Given the description of an element on the screen output the (x, y) to click on. 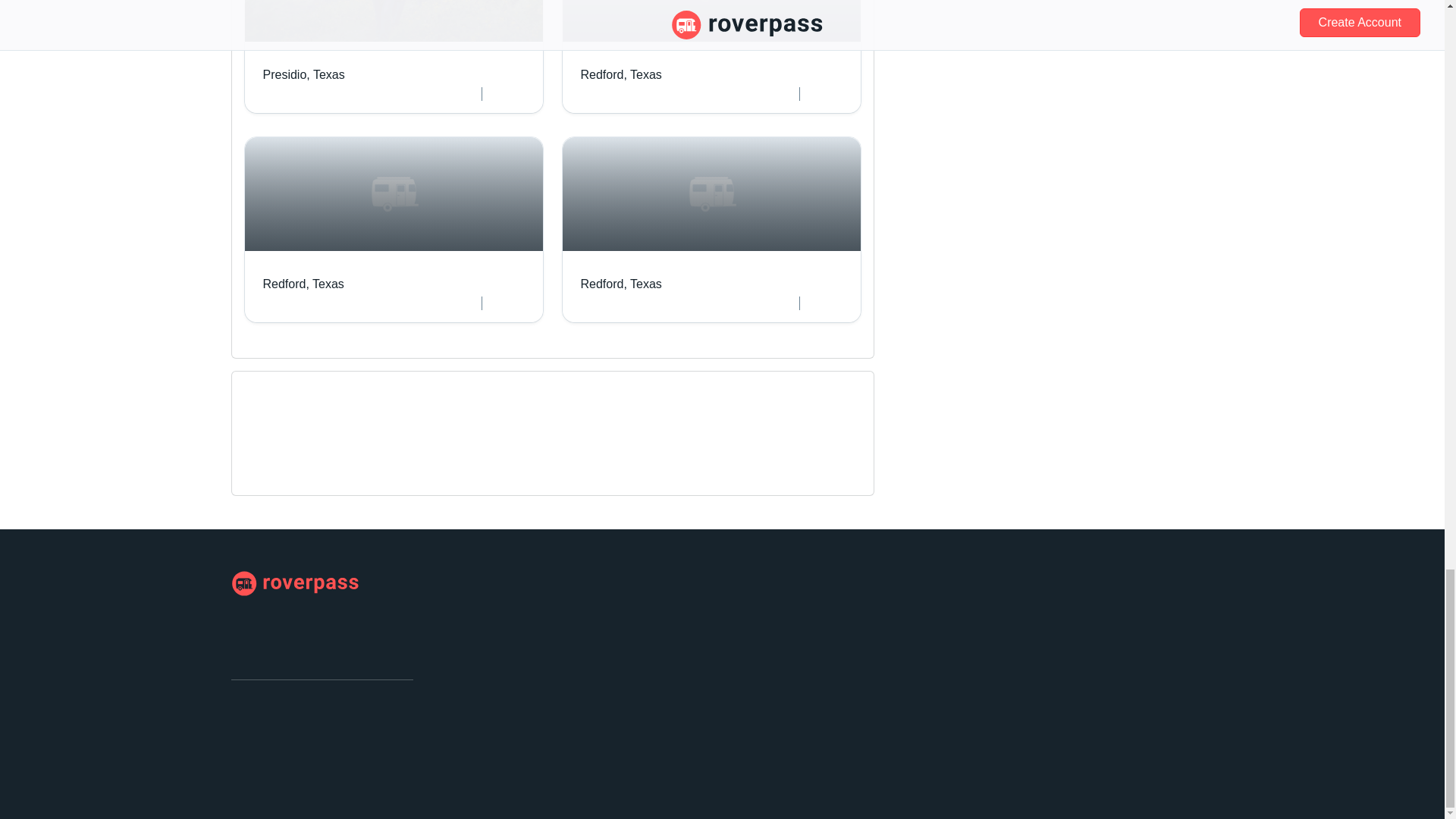
Presidio RV Parks (609, 442)
Terlingua RV Parks (295, 461)
Facebook (242, 711)
RoverPass (393, 229)
Lajitas RV Parks (294, 583)
Twitter (710, 56)
